Given the description of an element on the screen output the (x, y) to click on. 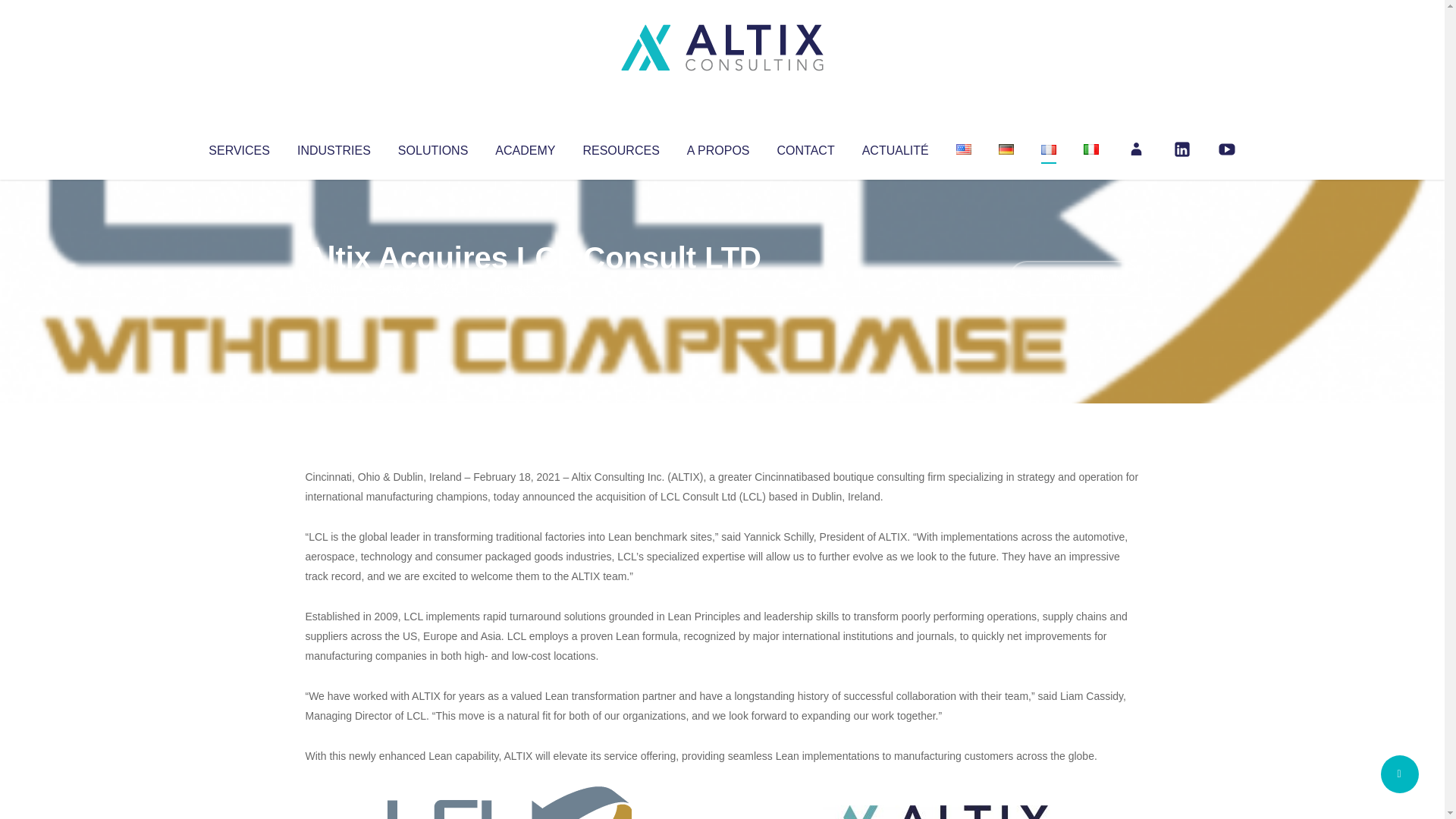
RESOURCES (620, 146)
INDUSTRIES (334, 146)
SOLUTIONS (432, 146)
Uncategorized (530, 287)
ACADEMY (524, 146)
A PROPOS (718, 146)
Altix (333, 287)
Articles par Altix (333, 287)
SERVICES (238, 146)
No Comments (1073, 278)
